Given the description of an element on the screen output the (x, y) to click on. 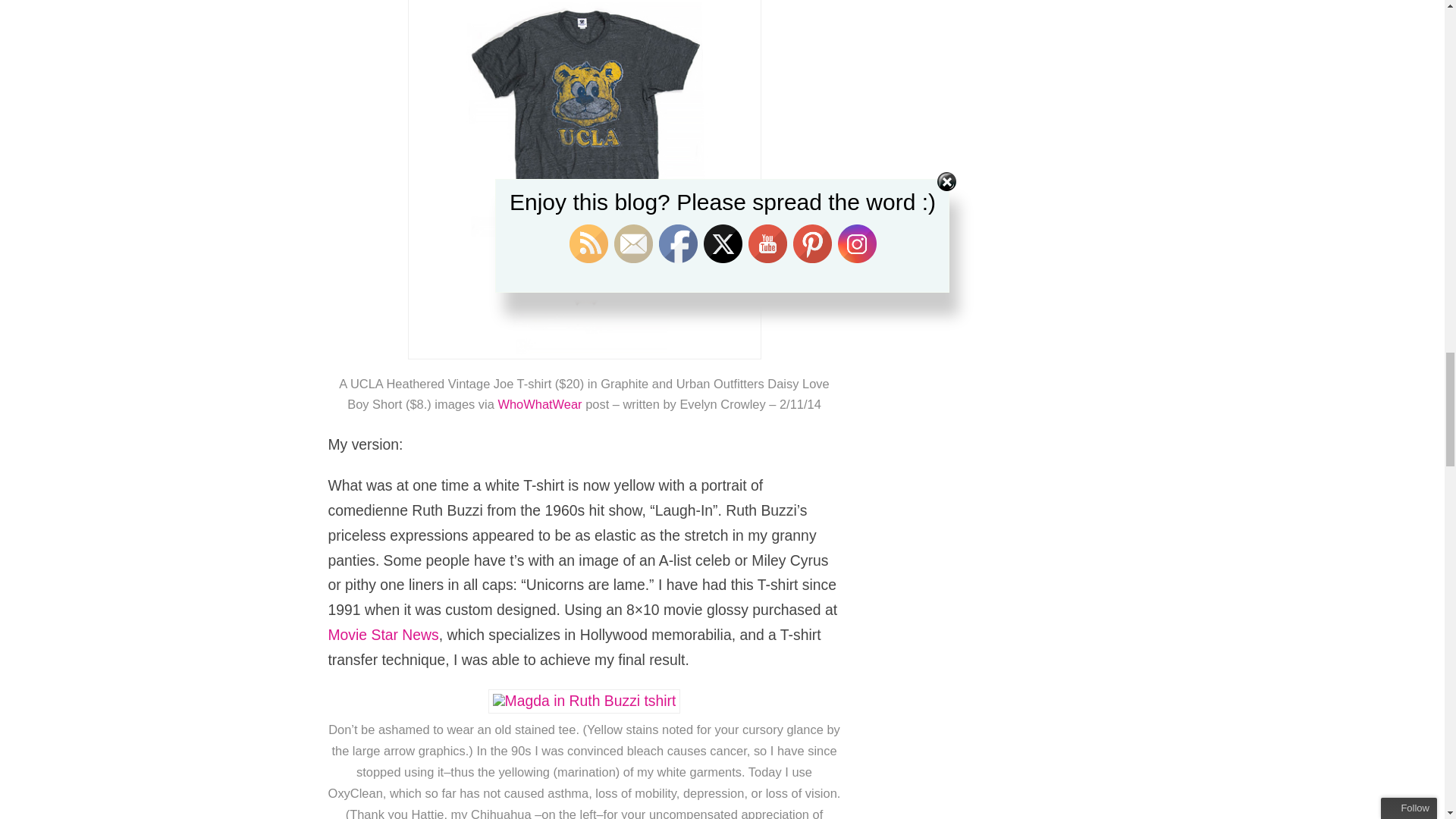
WhoWhatWear (538, 404)
Who What Wear What does your sleepwear say about you (538, 404)
Movie Star News (382, 634)
Movie Star News (382, 634)
